Given the description of an element on the screen output the (x, y) to click on. 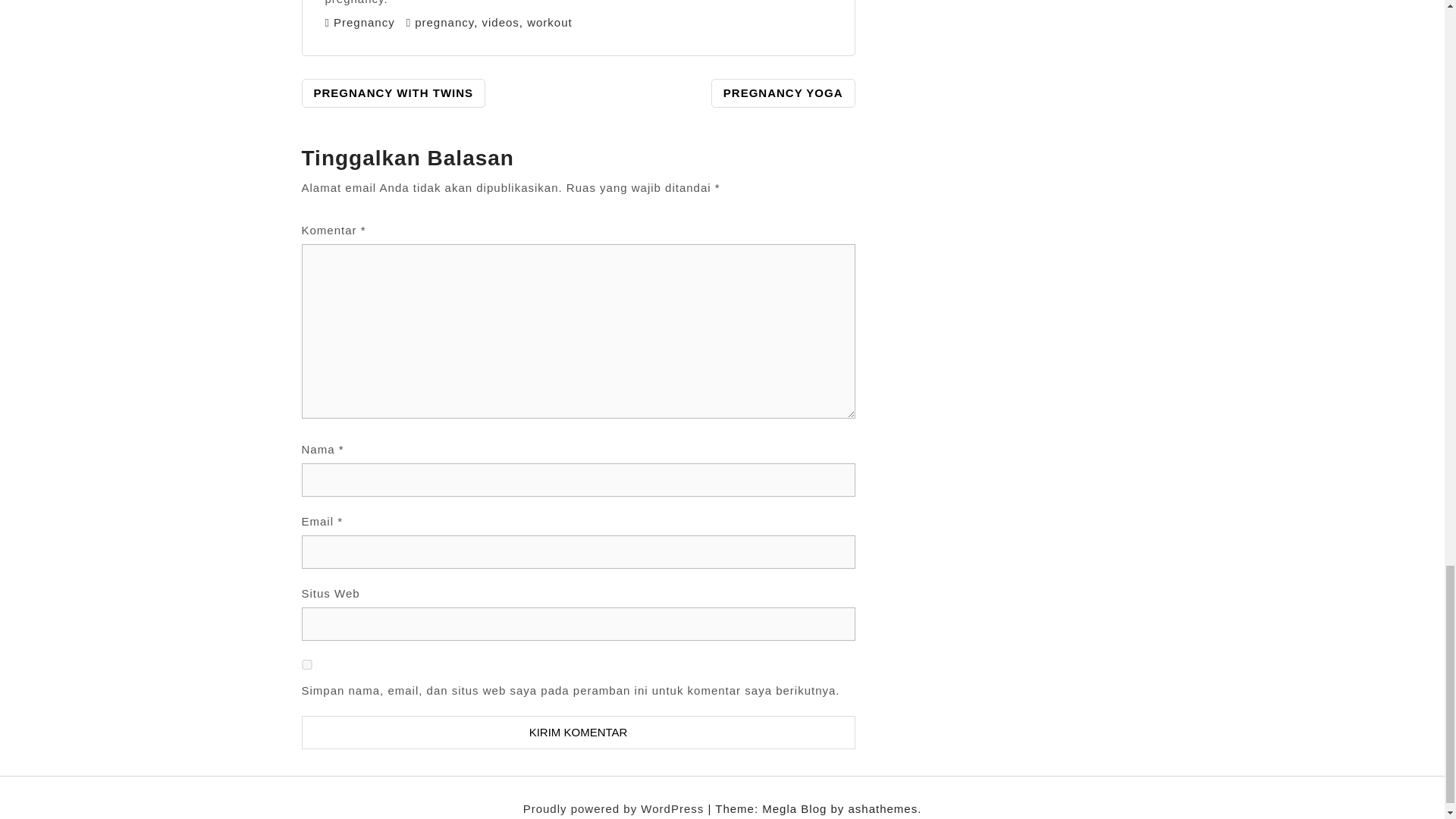
Pregnancy (363, 21)
Kirim Komentar (578, 732)
pregnancy (444, 21)
PREGNANCY WITH TWINS (393, 92)
Proudly powered by WordPress (614, 808)
workout (549, 21)
PREGNANCY YOGA (783, 92)
yes (307, 664)
videos (499, 21)
Kirim Komentar (578, 732)
